Given the description of an element on the screen output the (x, y) to click on. 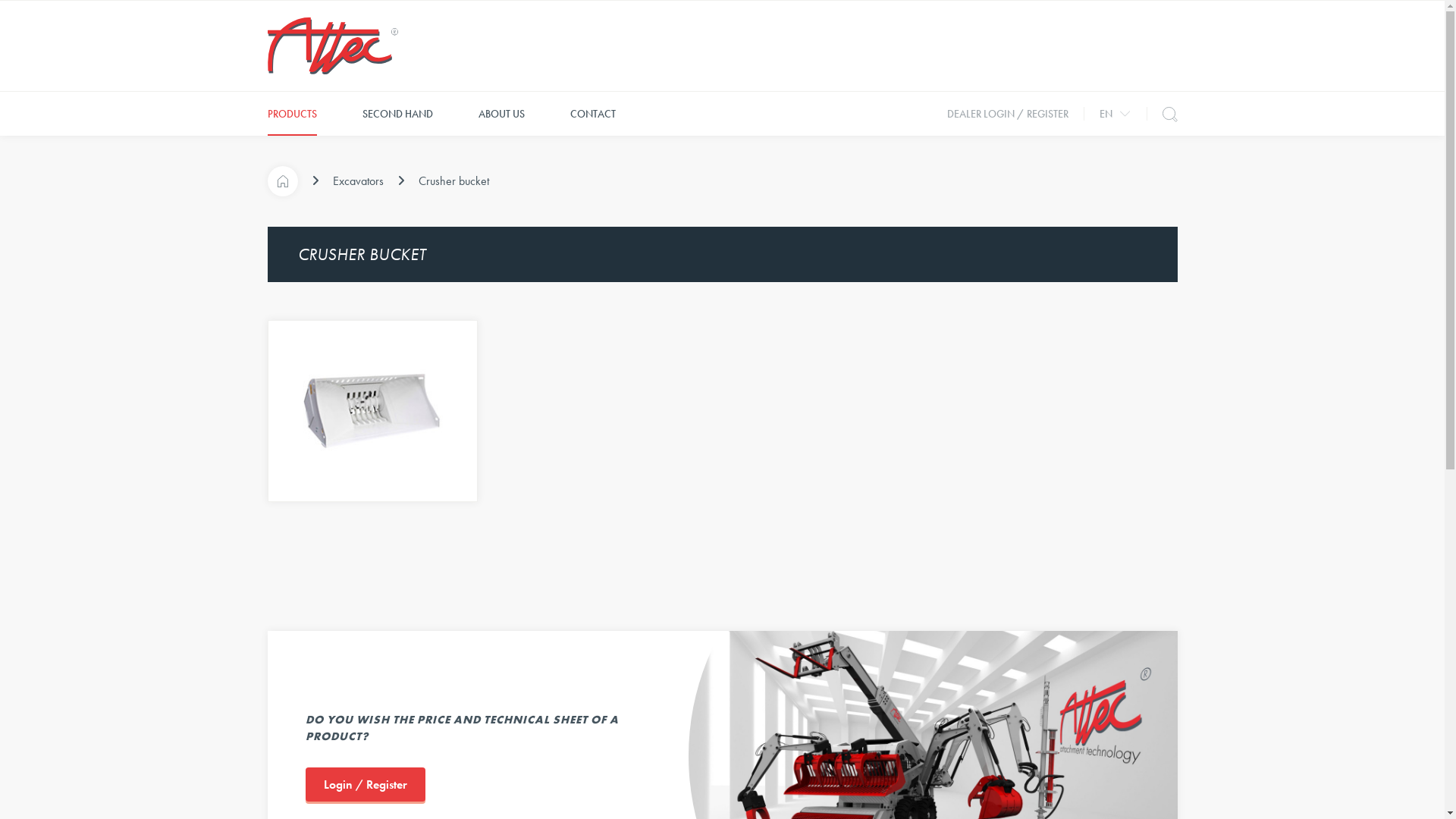
CONTACT Element type: text (592, 113)
PRODUCTS Element type: text (291, 113)
ABOUT US Element type: text (500, 113)
SECOND HAND Element type: text (397, 113)
Login / Register Element type: text (364, 784)
Excavators Element type: text (357, 181)
DEALER LOGIN / REGISTER Element type: text (1006, 113)
Crusher bucket Element type: text (453, 181)
